Given the description of an element on the screen output the (x, y) to click on. 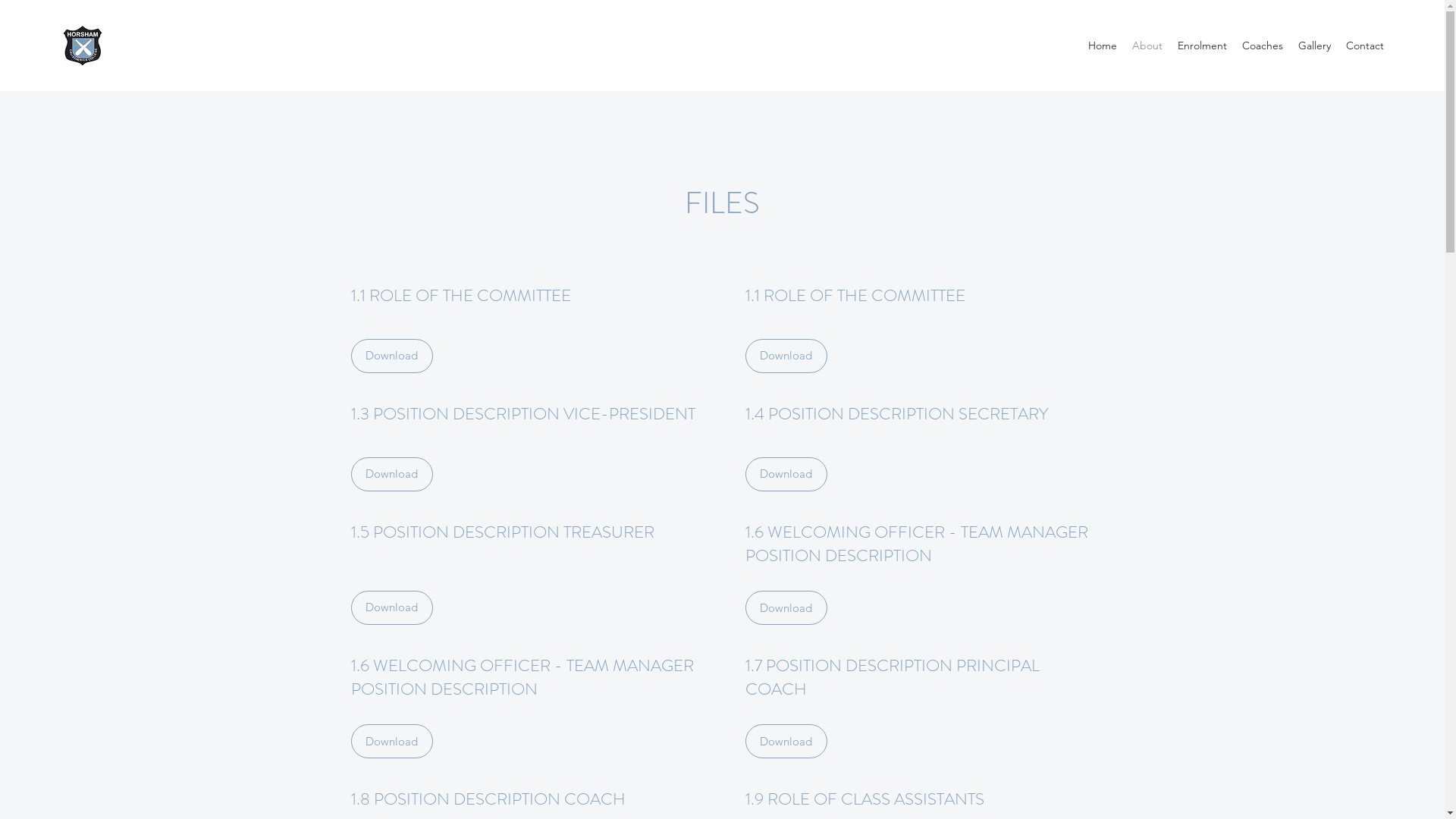
Download Element type: text (785, 355)
Download Element type: text (785, 474)
Download Element type: text (391, 741)
Download Element type: text (785, 607)
Enrolment Element type: text (1202, 45)
Download Element type: text (785, 741)
Gallery Element type: text (1314, 45)
Download Element type: text (391, 474)
Home Element type: text (1102, 45)
Coaches Element type: text (1262, 45)
About Element type: text (1147, 45)
Contact Element type: text (1364, 45)
Download Element type: text (391, 355)
Download Element type: text (391, 607)
